Given the description of an element on the screen output the (x, y) to click on. 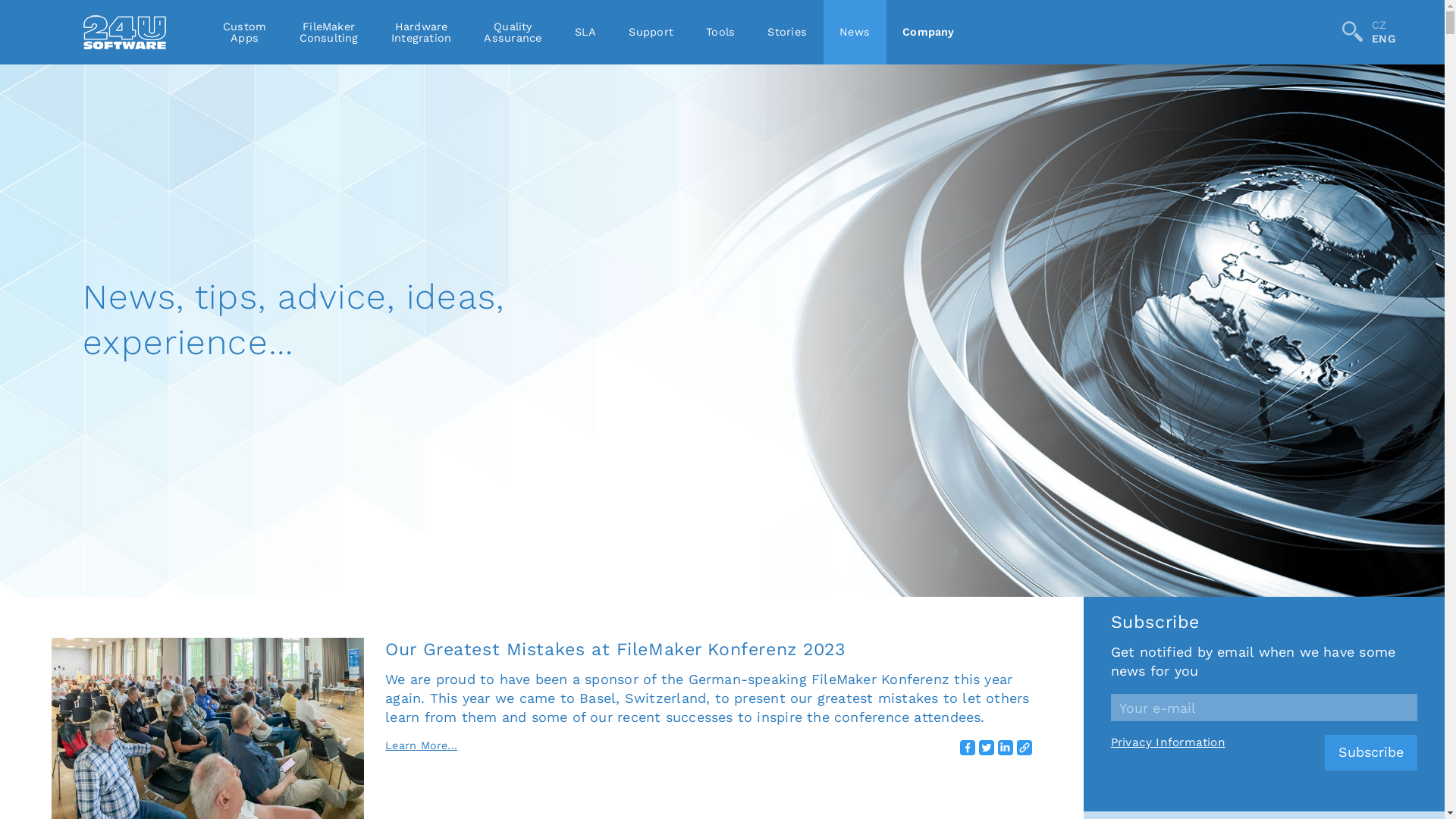
Company Element type: text (928, 32)
ENG Element type: text (1383, 39)
Custom
Apps Element type: text (244, 32)
Support Element type: text (651, 32)
Quality
Assurance Element type: text (512, 32)
Our Greatest Mistakes at FileMaker Konferenz 2023 Element type: text (614, 648)
Subscribe Element type: text (1370, 752)
FileMaker
Consulting Element type: text (328, 32)
Stories Element type: text (787, 32)
Learn More... Element type: text (421, 745)
CZ Element type: text (1383, 24)
Share on Facebook Element type: hover (967, 747)
Share on LinkedIn Element type: hover (1005, 747)
SLA Element type: text (585, 32)
Share on Twitter Element type: hover (986, 747)
Tools Element type: text (720, 32)
News Element type: text (854, 32)
Hardware
Integration Element type: text (420, 32)
Privacy Information Element type: text (1167, 742)
